Given the description of an element on the screen output the (x, y) to click on. 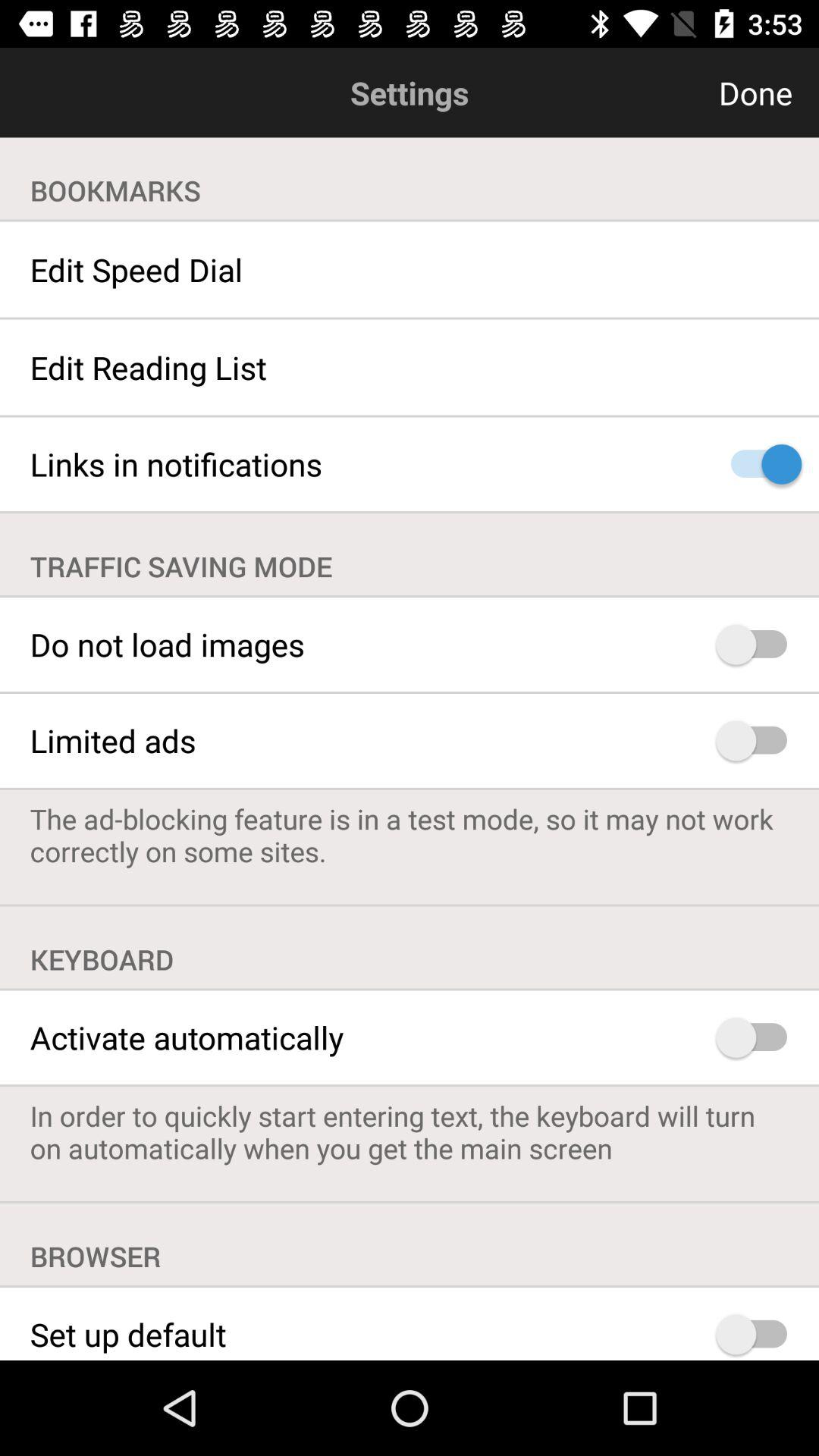
turn off icon above bookmarks icon (682, 92)
